Given the description of an element on the screen output the (x, y) to click on. 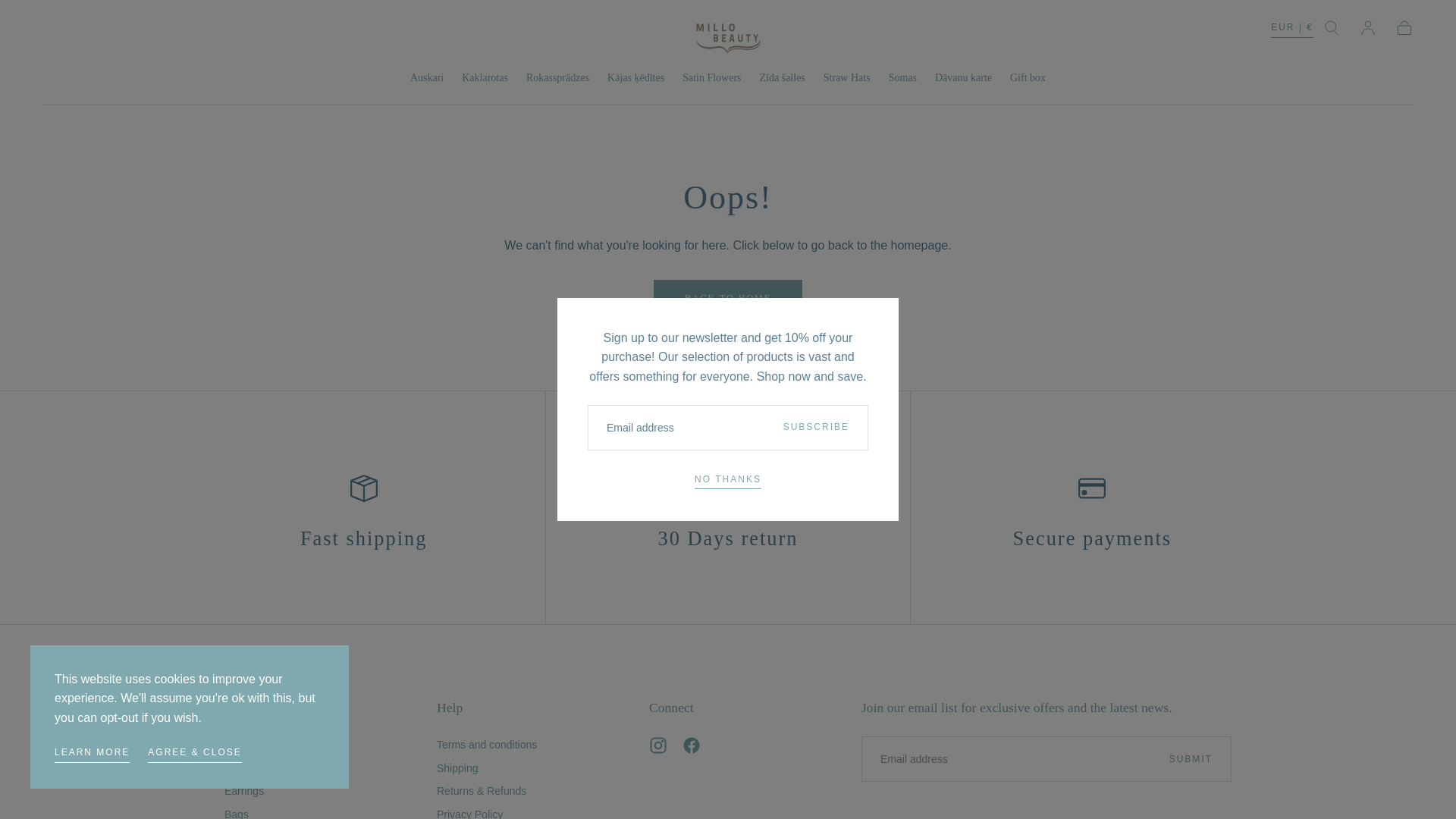
Kaklarotas (484, 79)
Skip to content (67, 18)
Bags (252, 812)
Earrings (252, 790)
Somas (902, 79)
Satin Flowers (711, 79)
Straw Hats (847, 79)
Necklaces (252, 744)
Straw Hats (847, 79)
Somas (902, 79)
Gift box (1027, 79)
LEARN MORE (92, 754)
Sign in (1367, 27)
Gift box (1027, 79)
Bracelets (252, 768)
